Given the description of an element on the screen output the (x, y) to click on. 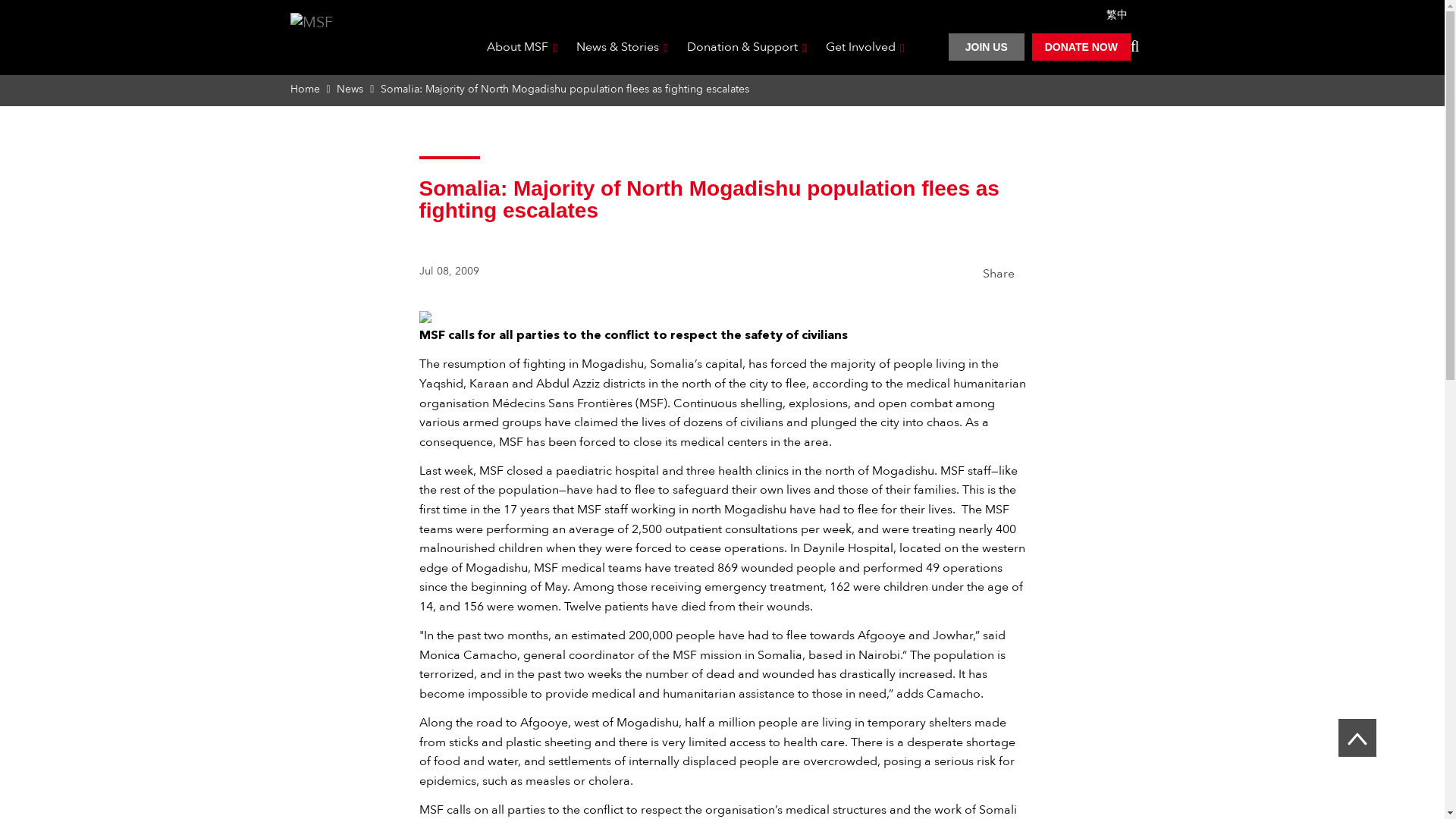
News (349, 88)
Get Involved (862, 47)
Home (363, 40)
DONATE NOW (1081, 46)
About MSF (519, 47)
Home (303, 88)
JOIN US (987, 46)
